Given the description of an element on the screen output the (x, y) to click on. 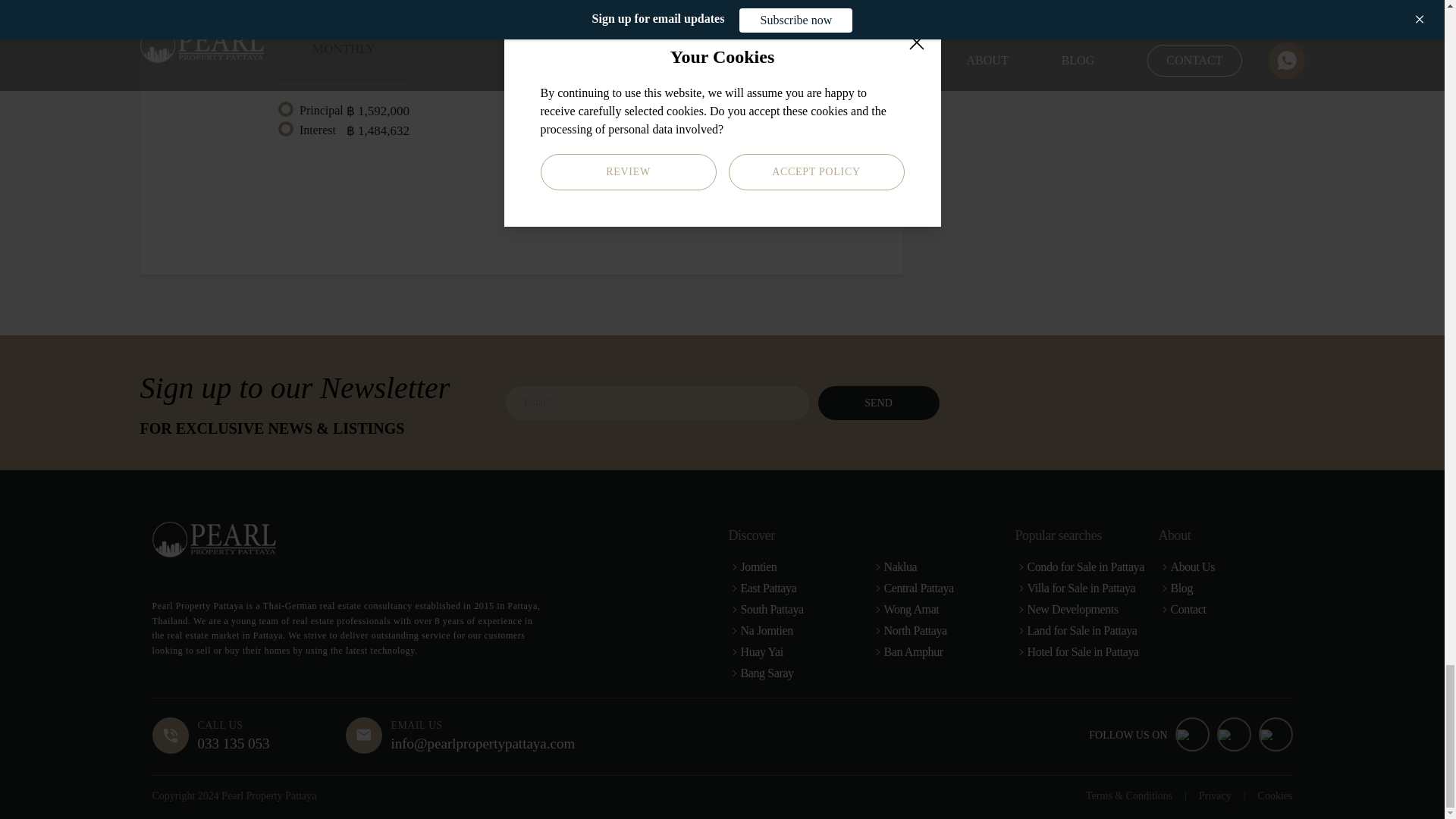
30 (810, 99)
5 (640, 99)
1990000 (640, 20)
398000 (810, 20)
